Given the description of an element on the screen output the (x, y) to click on. 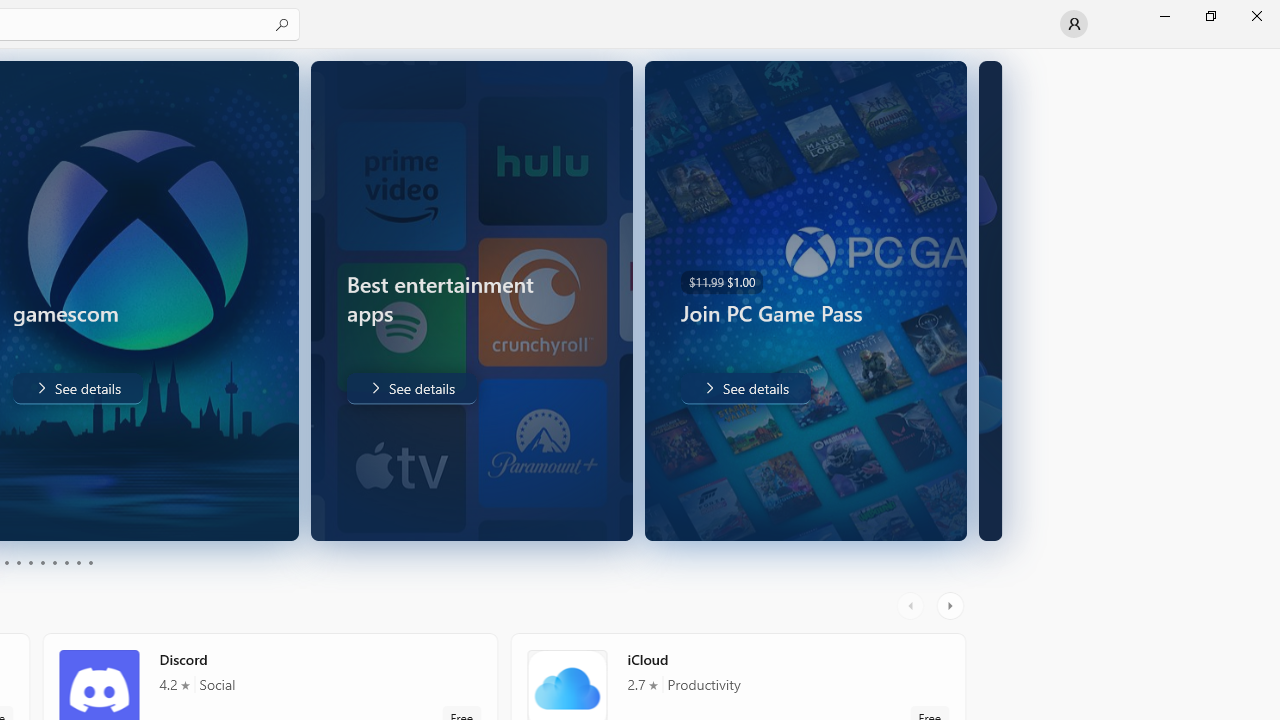
Page 8 (65, 562)
Page 7 (54, 562)
Page 10 (90, 562)
